Given the description of an element on the screen output the (x, y) to click on. 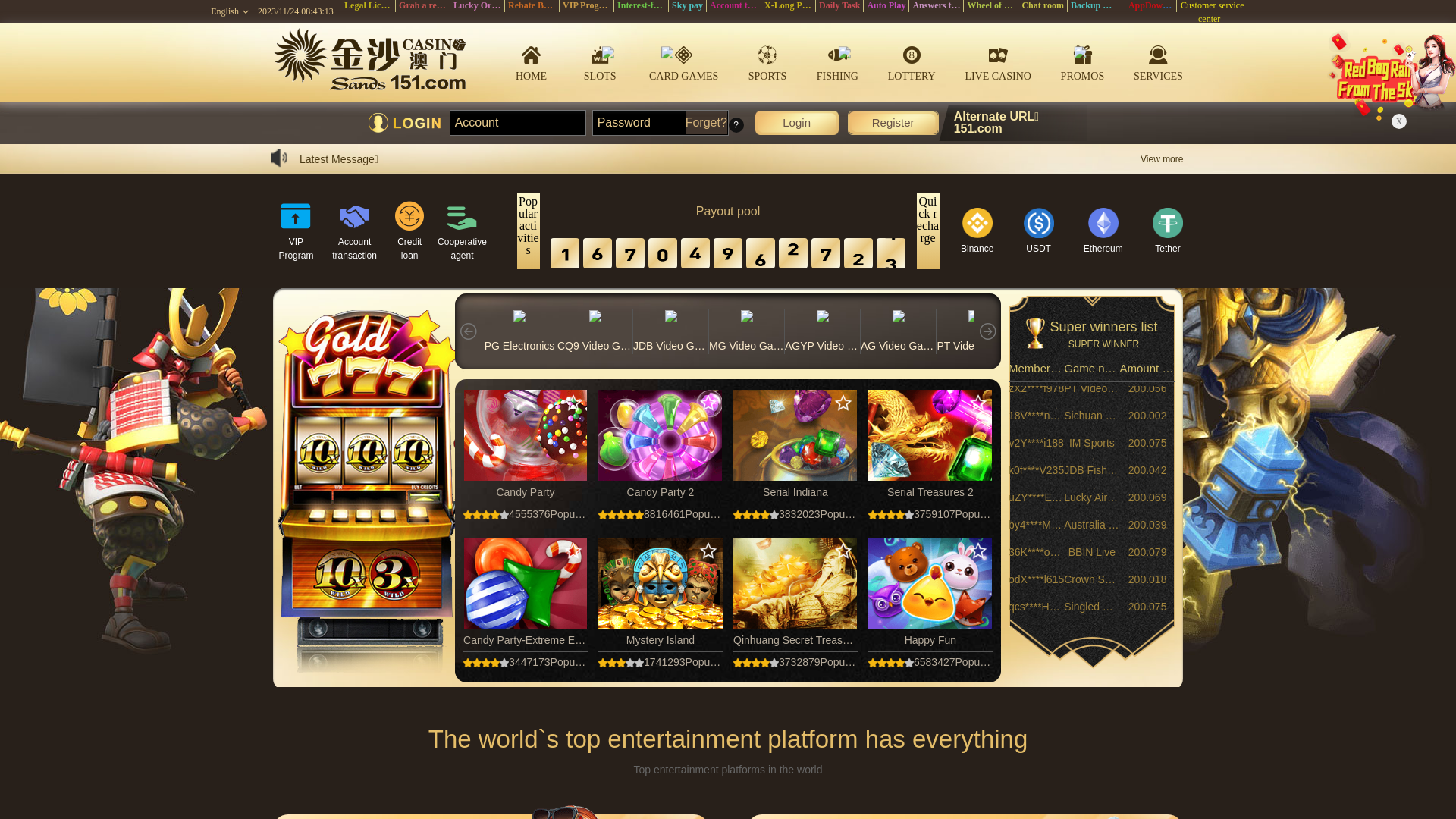
SLOTS Element type: text (599, 62)
HOME Element type: text (531, 62)
Customer service center Element type: text (1210, 12)
SERVICES Element type: text (1158, 60)
PROMOS Element type: text (1082, 62)
AppDownload Element type: text (1156, 5)
View more Element type: text (1161, 159)
CARD GAMES Element type: text (683, 62)
FISHING Element type: text (837, 62)
LOTTERY Element type: text (911, 62)
SPORTS Element type: text (767, 62)
LIVE CASINO Element type: text (997, 62)
